Given the description of an element on the screen output the (x, y) to click on. 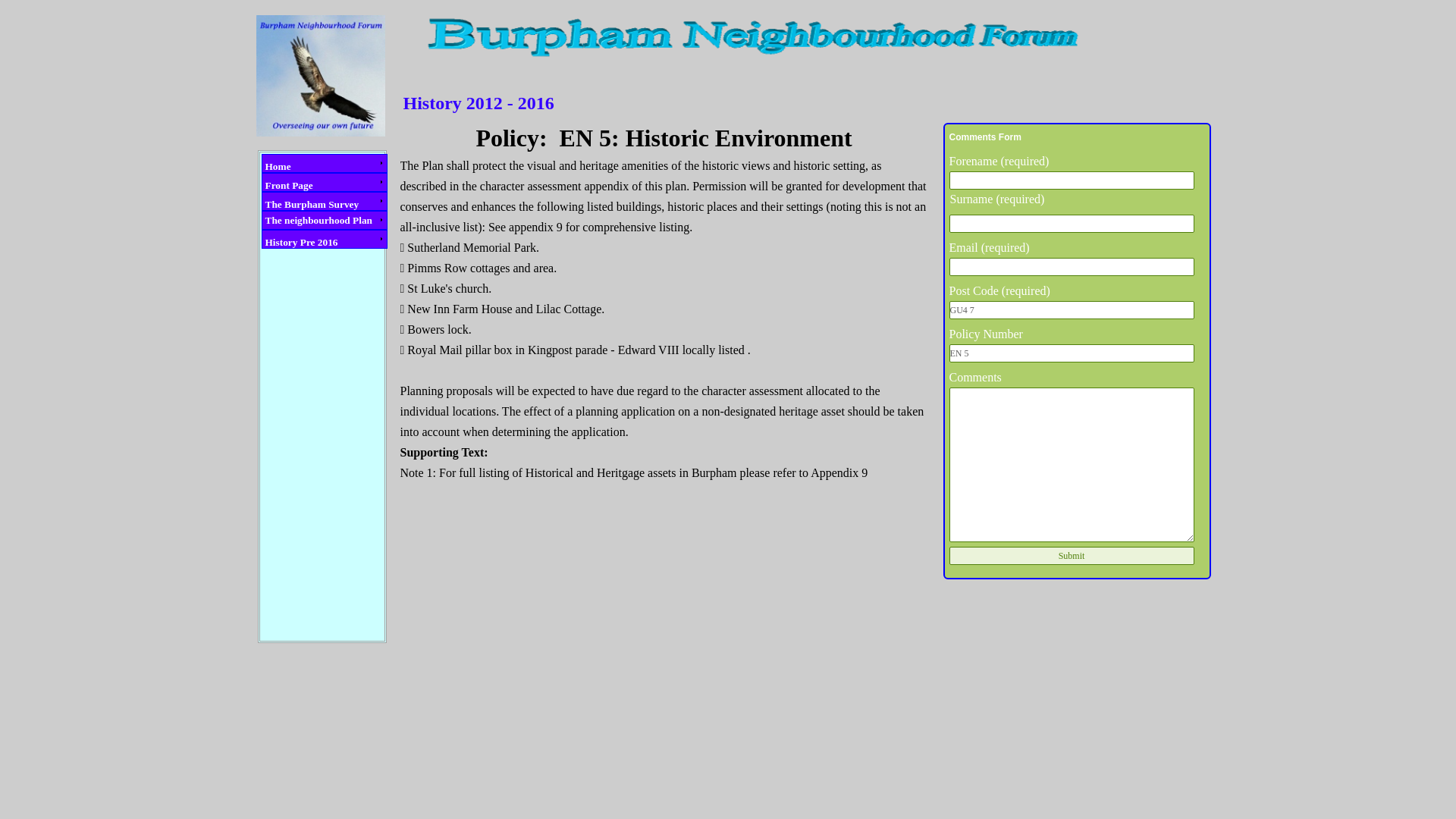
Submit (1071, 556)
Submit (1071, 556)
EN 5 (1071, 352)
GU4 7 (1071, 310)
